Given the description of an element on the screen output the (x, y) to click on. 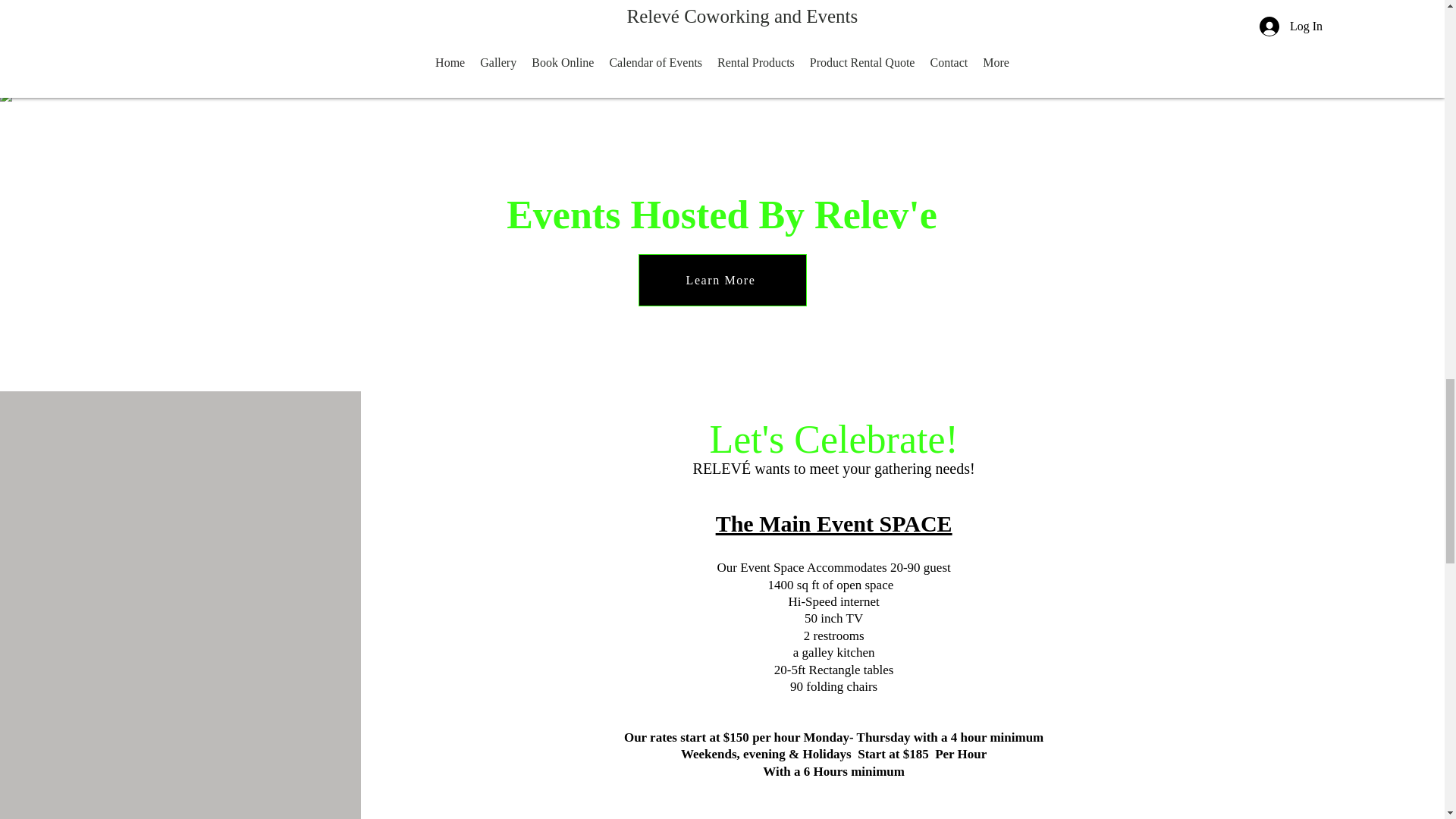
Learn More (722, 279)
